Given the description of an element on the screen output the (x, y) to click on. 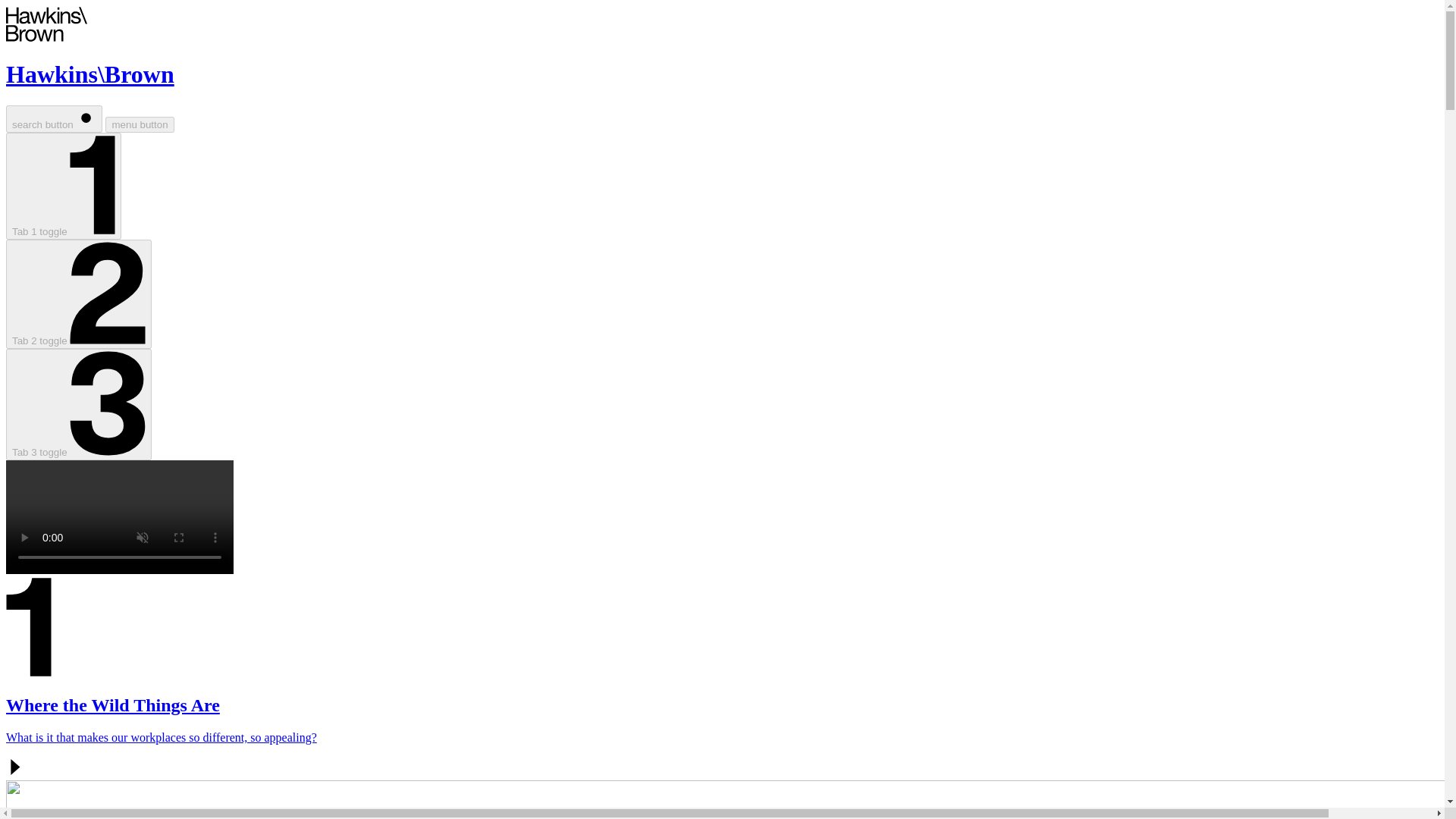
menu button (138, 124)
Tab 1 toggle (62, 185)
Tab 2 toggle (78, 293)
Tab 3 toggle (78, 404)
search button (53, 118)
